Given the description of an element on the screen output the (x, y) to click on. 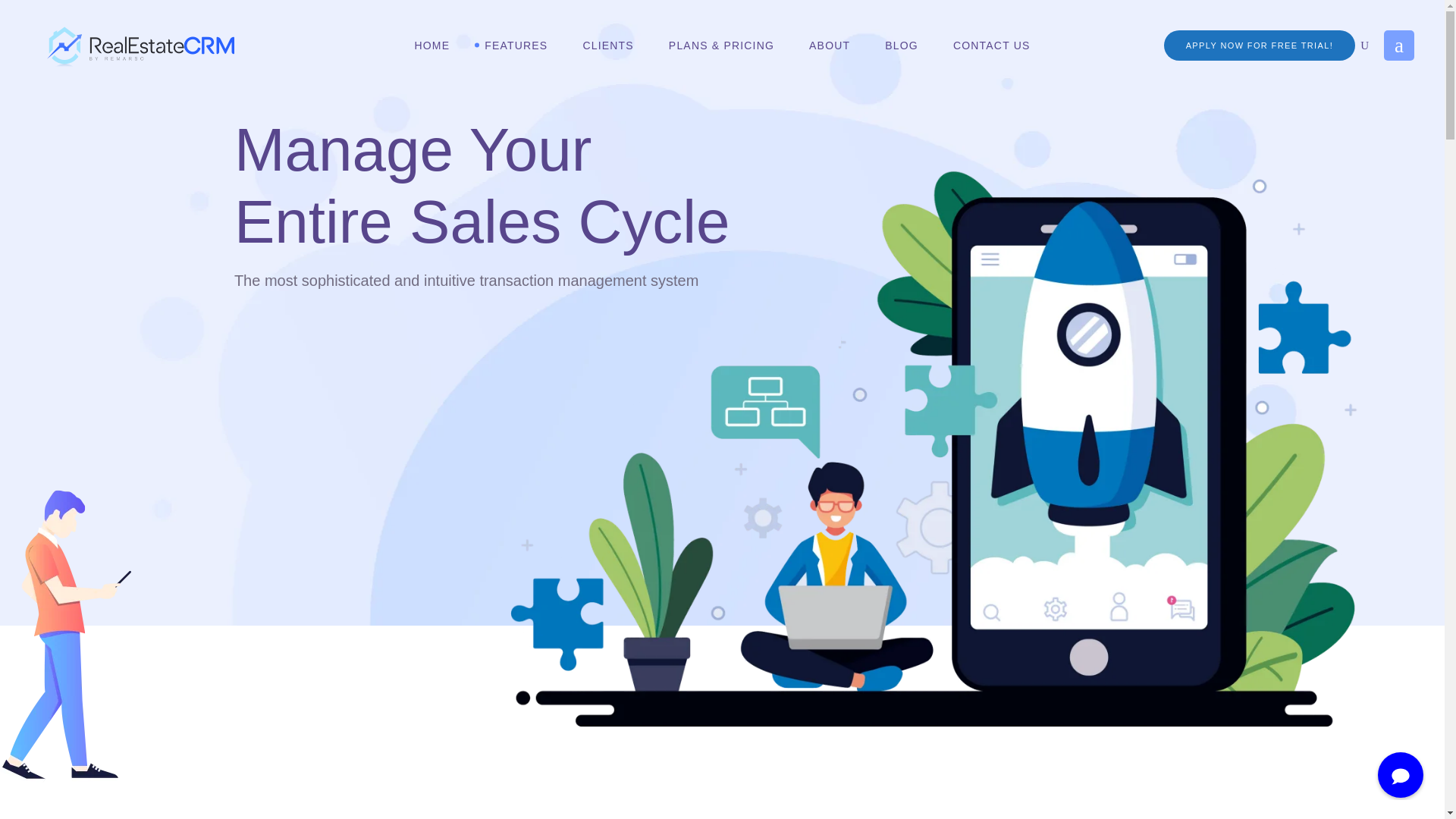
APPLY NOW FOR FREE TRIAL! (1259, 45)
CLIENTS (607, 45)
CONTACT US (992, 45)
Webchat Widget (1390, 766)
FEATURES (515, 45)
